Given the description of an element on the screen output the (x, y) to click on. 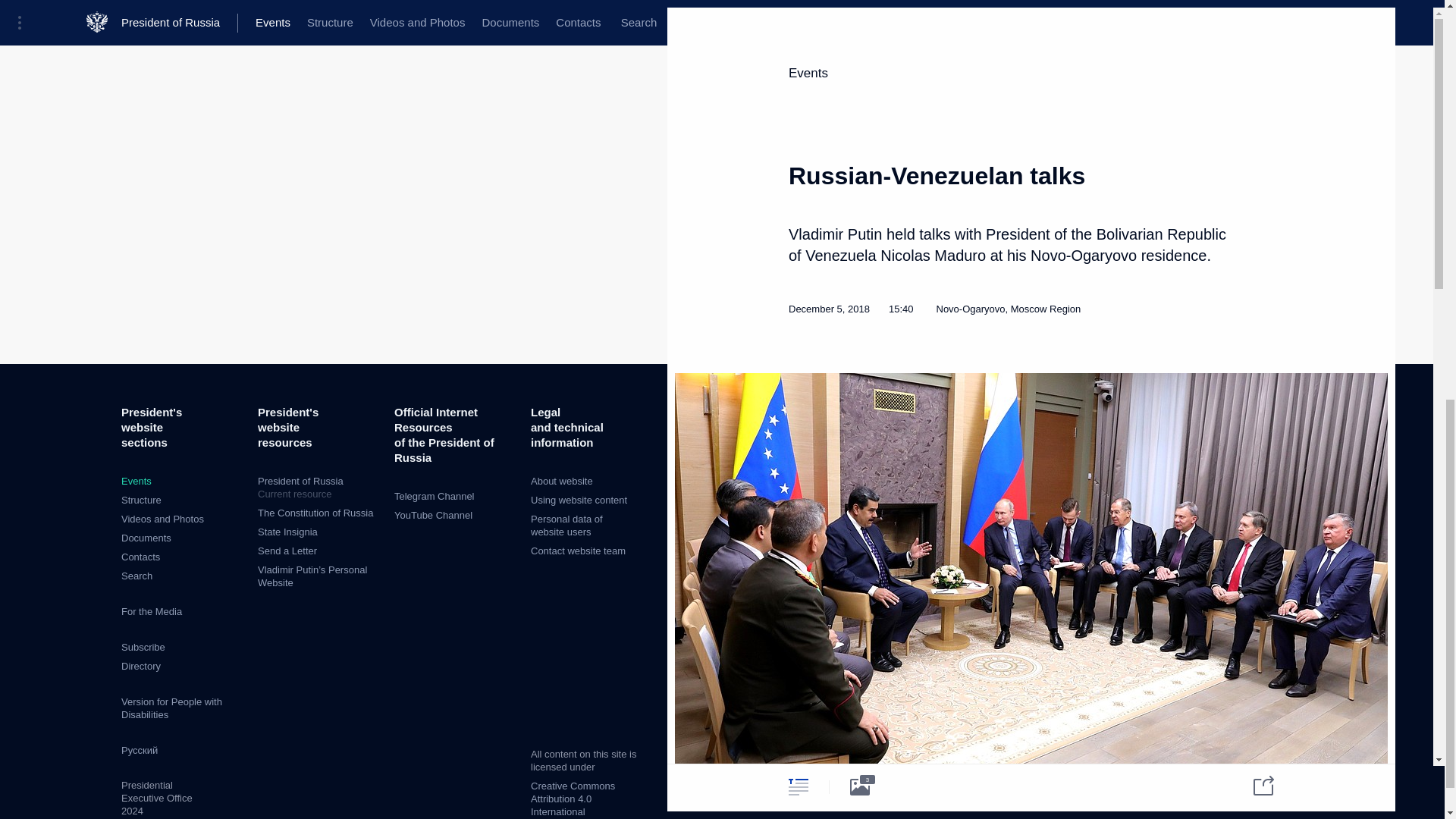
The Constitution of Russia (314, 512)
Creative Commons Attribution 4.0 International (572, 798)
YouTube Channel (432, 514)
State Insignia (287, 531)
Nicolas Maduro (969, 427)
For the Media (151, 611)
Using website content (579, 500)
Videos and Photos (161, 518)
About website (561, 480)
Telegram Channel (434, 496)
